Given the description of an element on the screen output the (x, y) to click on. 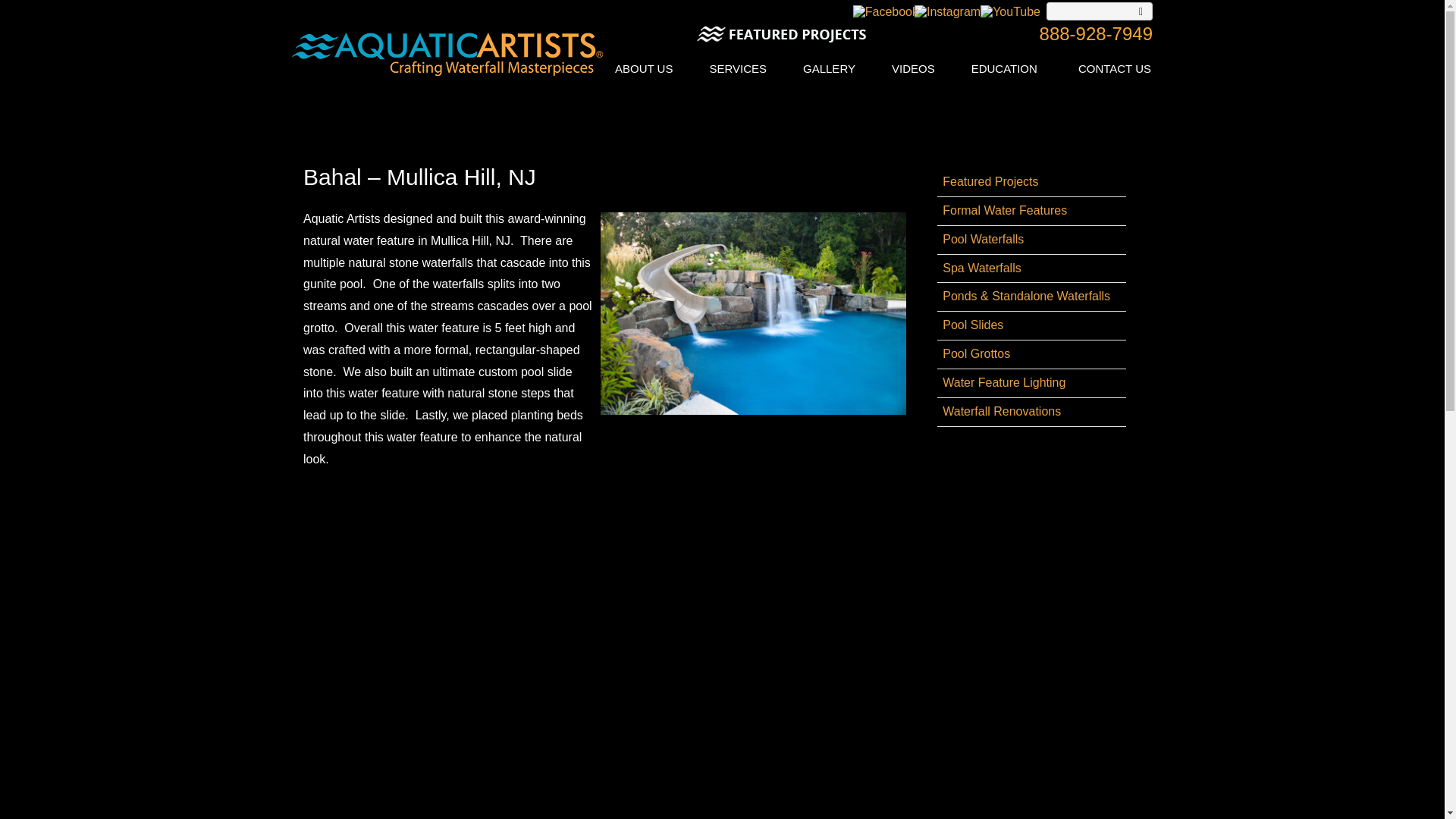
YouTube (1010, 14)
ABOUT US (643, 68)
Facebook (885, 14)
YouTube (1010, 11)
Instagram (946, 14)
Facebook (885, 11)
GALLERY (828, 68)
VIDEOS (913, 68)
SERVICES (737, 68)
